Given the description of an element on the screen output the (x, y) to click on. 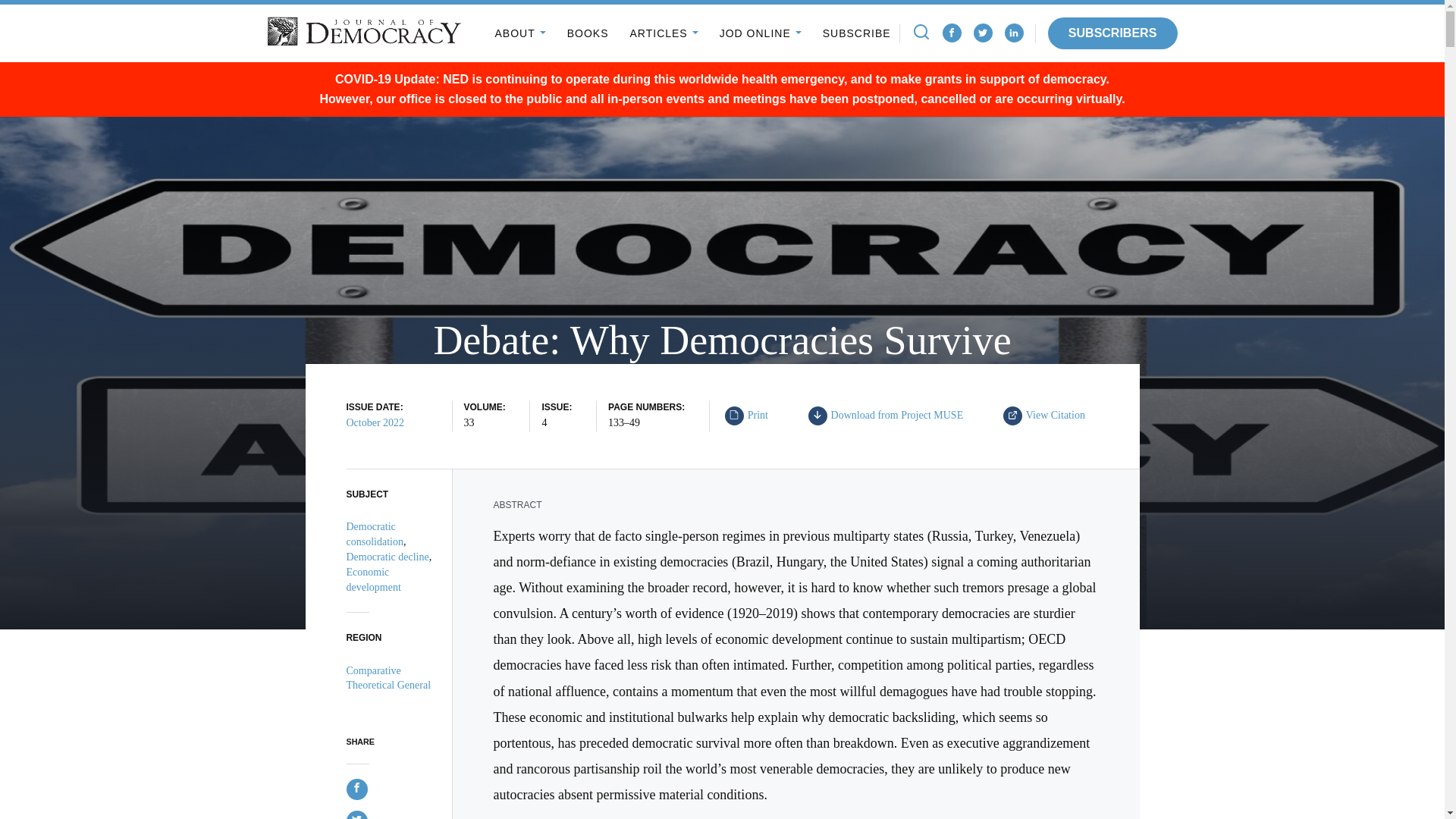
linkedin (1013, 32)
search (921, 31)
linkedin (1013, 31)
JOD ONLINE (760, 33)
arrow-down-thin (750, 415)
twitter (817, 414)
Facebook (983, 32)
Jason Brownlee (951, 32)
ABOUT (672, 419)
LinkedIn (519, 33)
facebook (1013, 32)
ARTICLES (951, 31)
Twitter (662, 33)
BOOKS (983, 32)
